Given the description of an element on the screen output the (x, y) to click on. 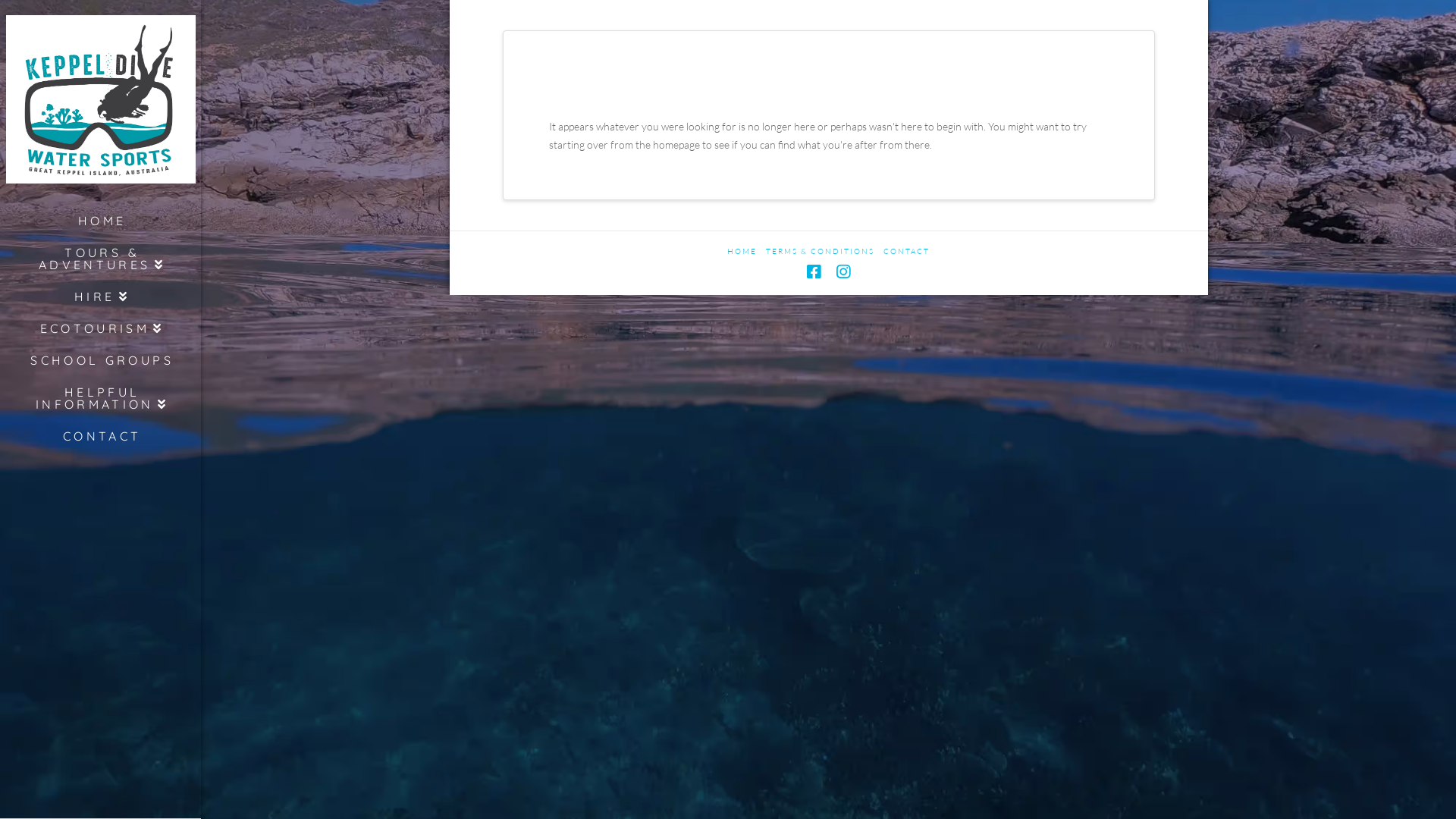
TERMS & CONDITIONS Element type: text (819, 251)
HOME Element type: text (100, 220)
TOURS & ADVENTURES Element type: text (100, 258)
Facebook Element type: hover (813, 271)
HIRE Element type: text (100, 296)
CONTACT Element type: text (100, 435)
ECOTOURISM Element type: text (100, 328)
SCHOOL GROUPS Element type: text (100, 360)
HELPFUL INFORMATION Element type: text (100, 398)
Instagram Element type: hover (843, 271)
HOME Element type: text (741, 251)
CONTACT Element type: text (906, 251)
